Given the description of an element on the screen output the (x, y) to click on. 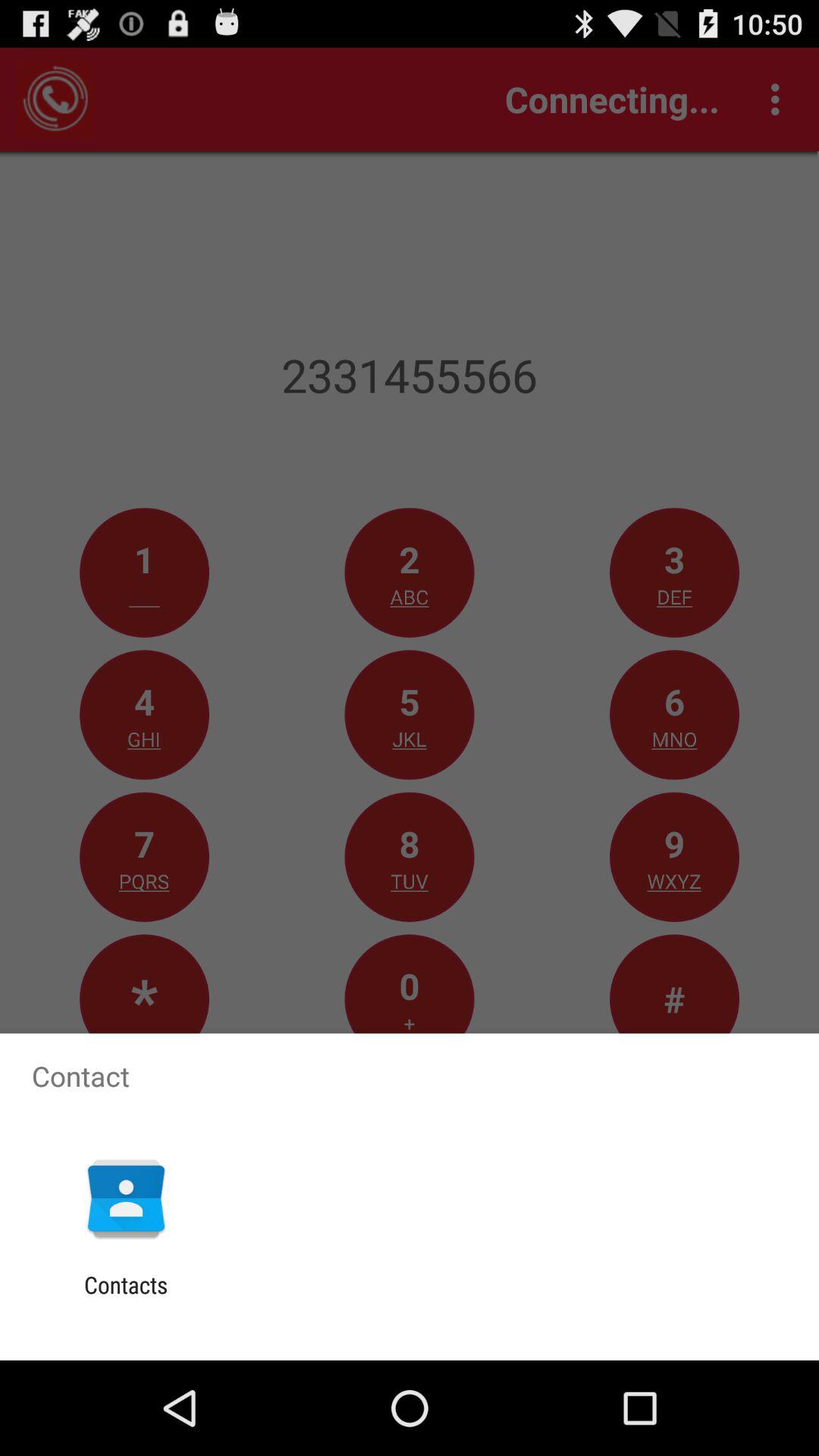
jump until the contacts item (125, 1298)
